Given the description of an element on the screen output the (x, y) to click on. 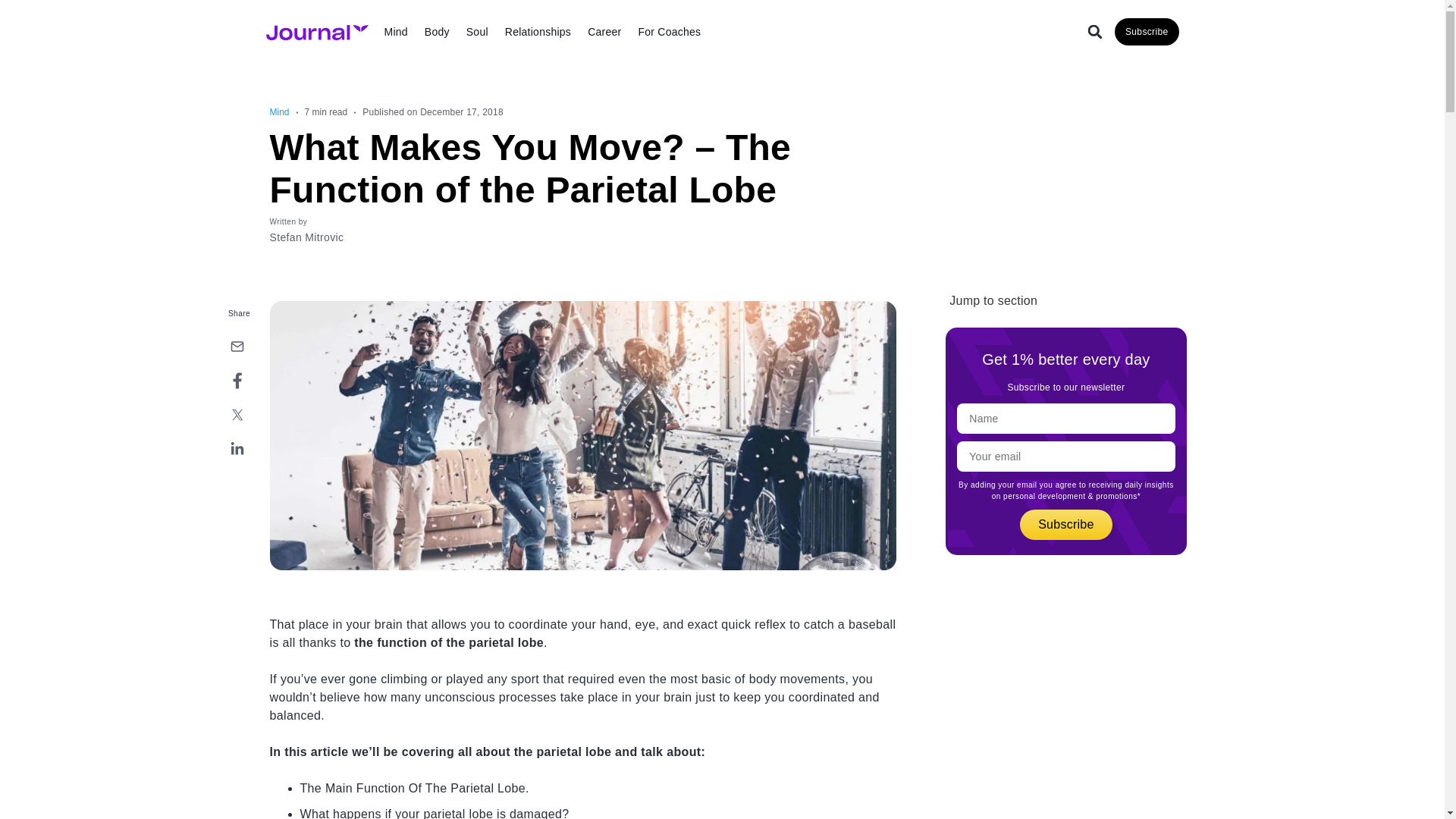
Soul (477, 31)
Career (603, 31)
For Coaches (668, 31)
Mind (395, 31)
Body (437, 31)
Relationships (537, 31)
